Given the description of an element on the screen output the (x, y) to click on. 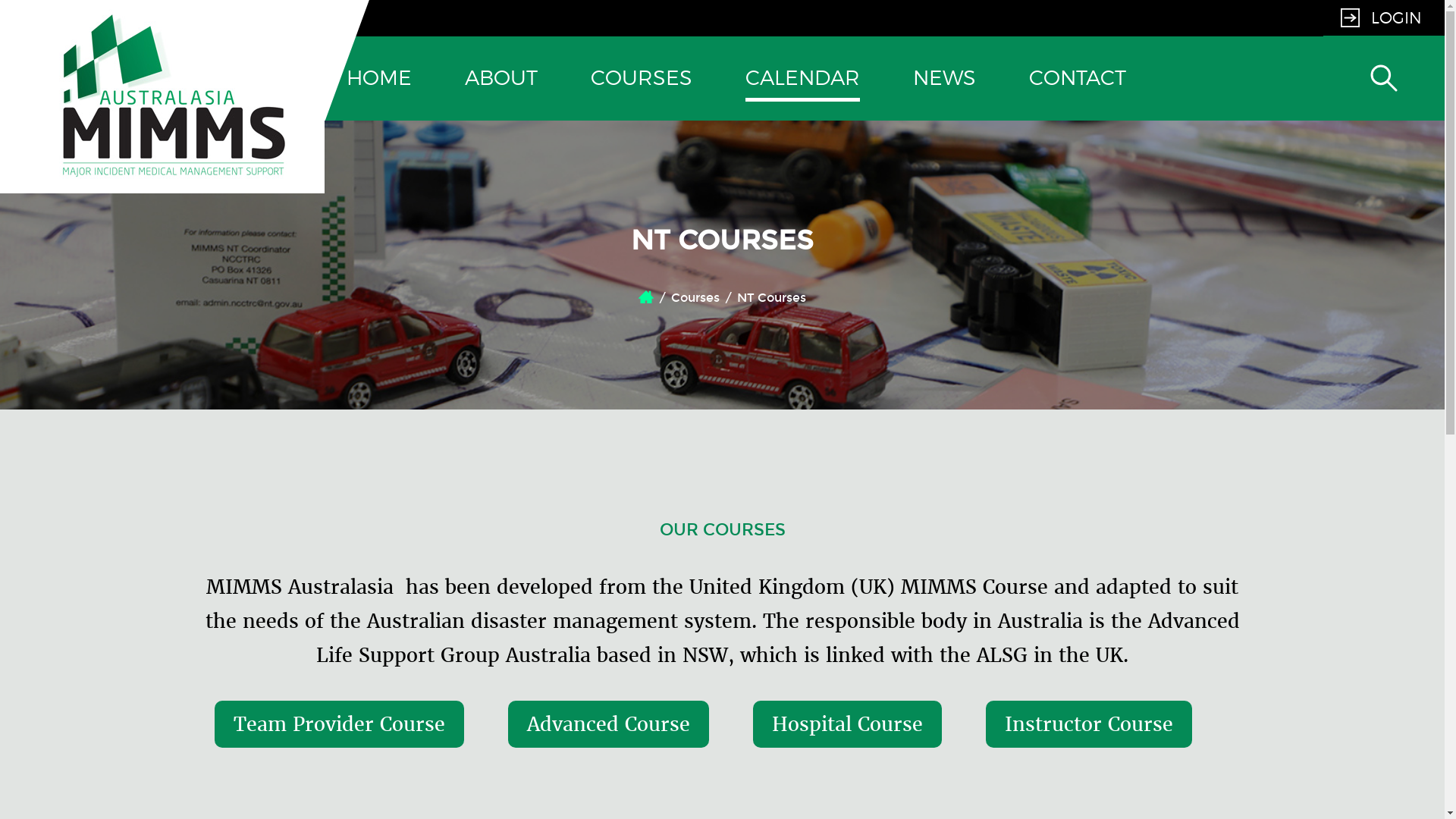
Skip to main content Element type: text (72, 0)
NEWS Element type: text (944, 78)
Instructor Course Element type: text (1088, 724)
Hospital Course Element type: text (847, 724)
Search Element type: text (1383, 157)
LOGIN Element type: text (1380, 17)
Courses Element type: text (695, 297)
CALENDAR Element type: text (802, 78)
Home Element type: text (645, 296)
CONTACT Element type: text (1077, 78)
COURSES Element type: text (641, 78)
Advanced Course Element type: text (608, 724)
Team Provider Course Element type: text (339, 724)
Go to MIMMS homepage Element type: hover (172, 169)
ABOUT Element type: text (500, 78)
HOME Element type: text (378, 78)
